Given the description of an element on the screen output the (x, y) to click on. 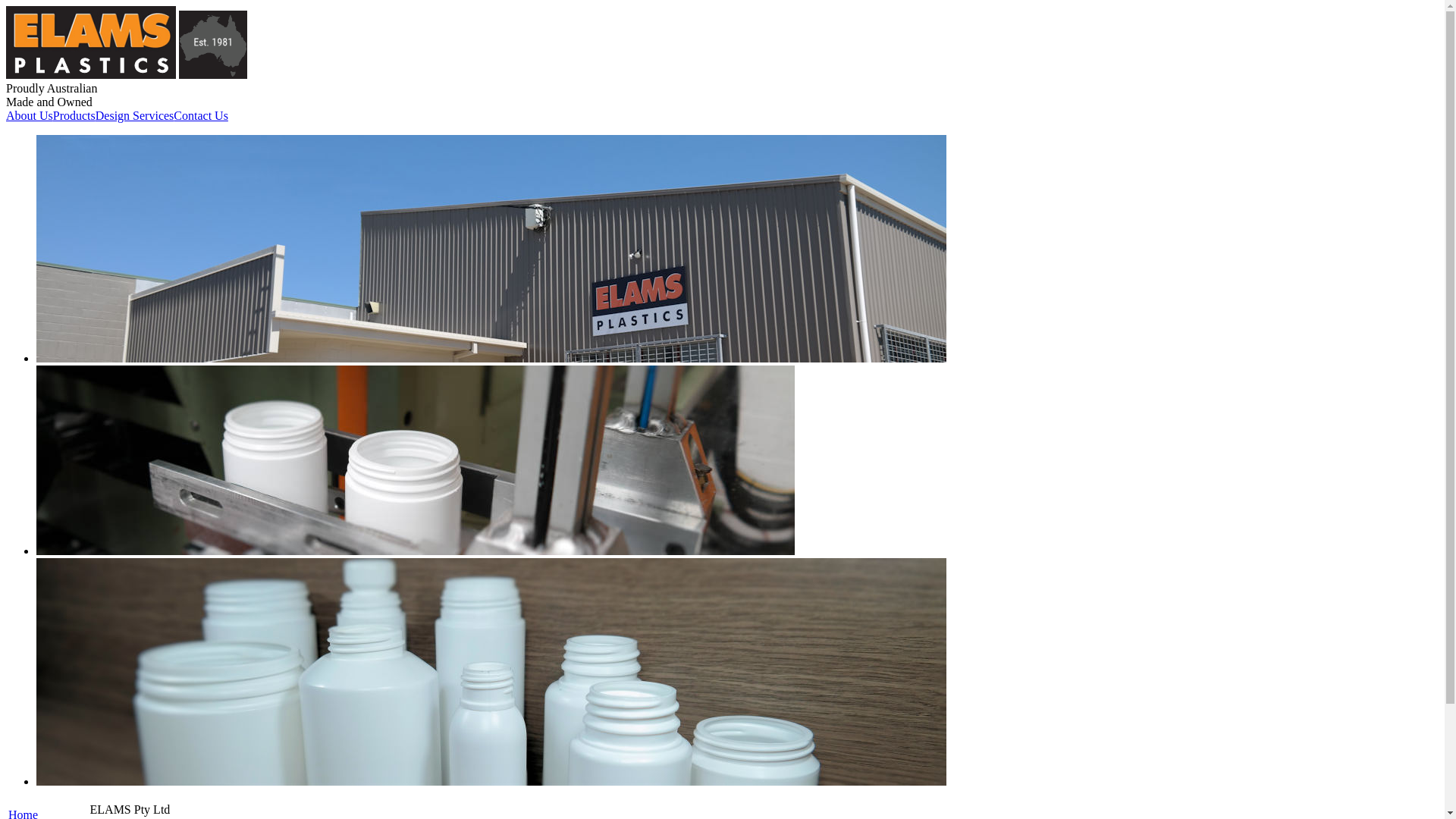
About Us Element type: text (29, 115)
Design Services Element type: text (134, 115)
Products Element type: text (74, 115)
Contact Us Element type: text (200, 115)
